Given the description of an element on the screen output the (x, y) to click on. 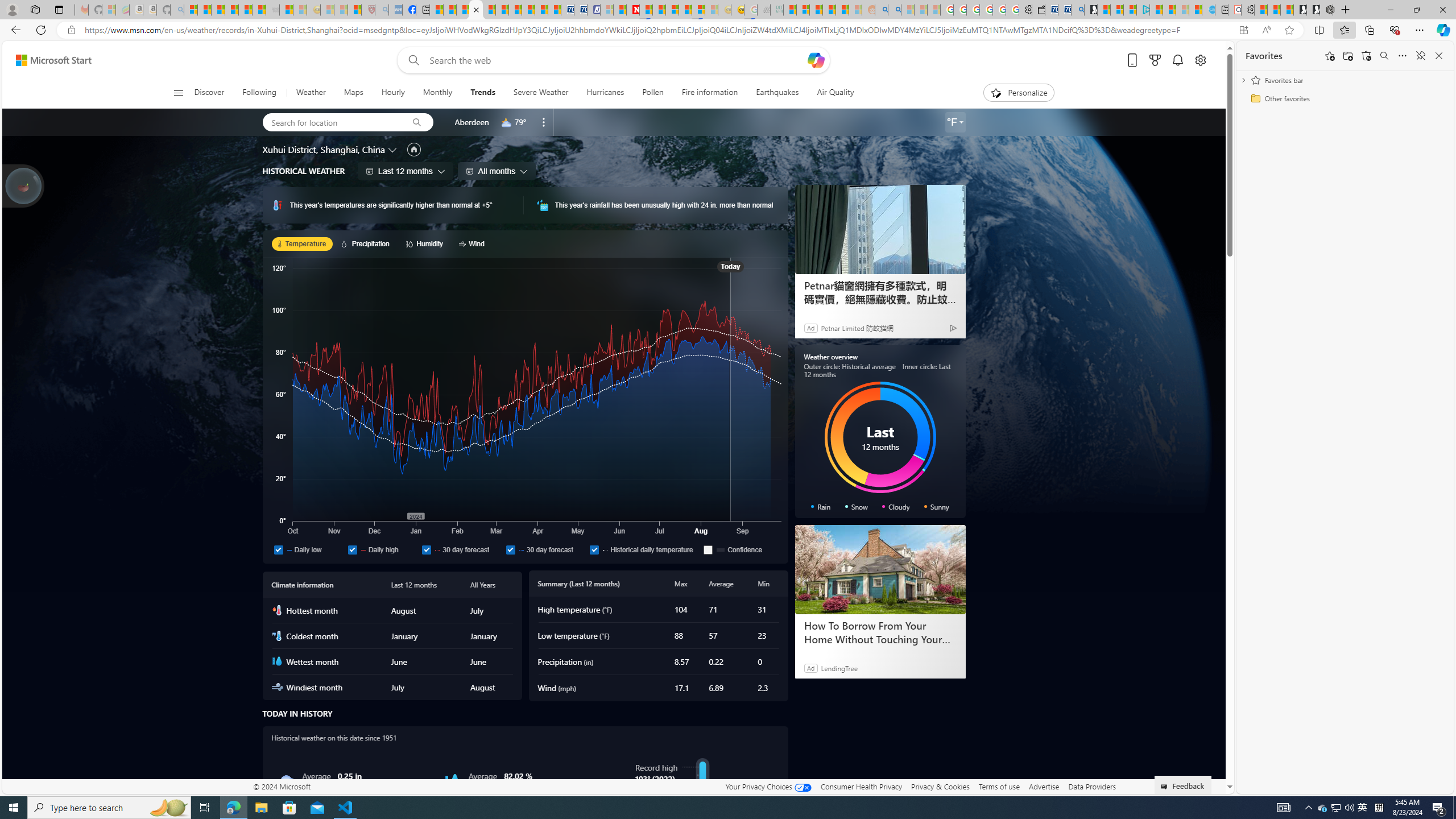
Bing Real Estate - Home sales and rental listings (1077, 9)
Your Privacy Choices (767, 786)
Hurricanes (604, 92)
Last 12 months (405, 170)
App available. Install Microsoft Start Weather (1243, 29)
